Given the description of an element on the screen output the (x, y) to click on. 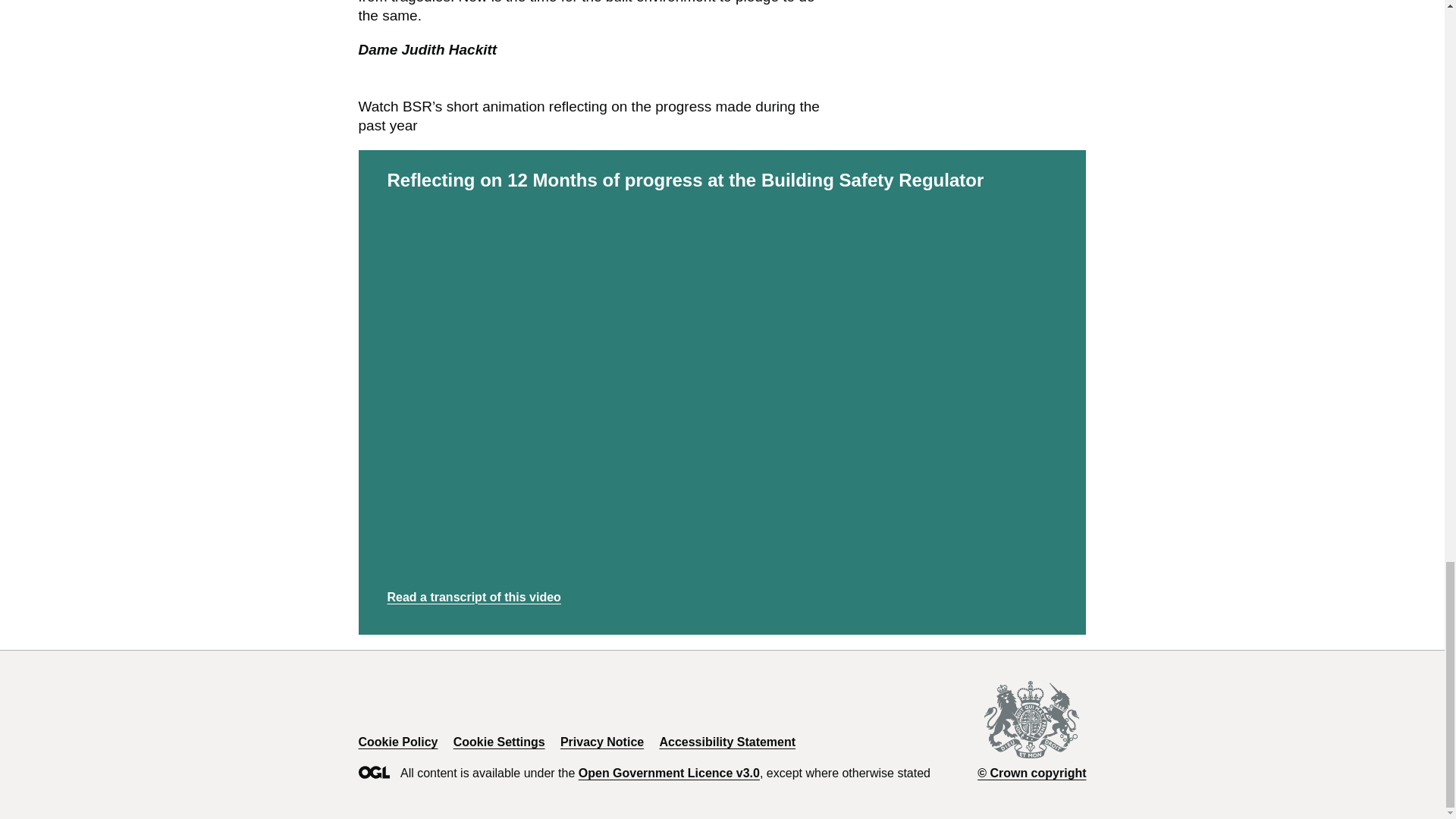
Privacy Notice (601, 741)
Accessibility Statement (726, 741)
Cookie Settings (498, 741)
Cookie Policy (398, 741)
Open Government Licence v3.0 (669, 772)
Read a transcript of this video (473, 596)
